Given the description of an element on the screen output the (x, y) to click on. 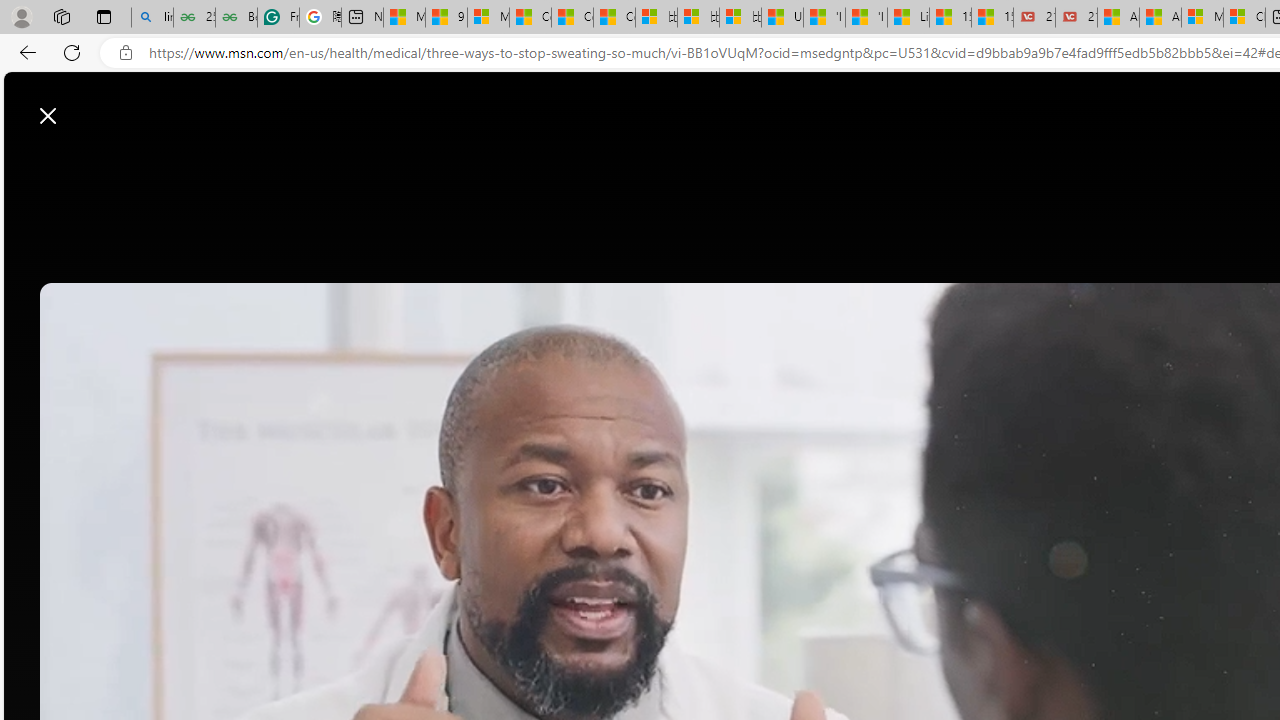
Cloud Computing Services | Microsoft Azure (1243, 17)
linux basic - Search (151, 17)
